Given the description of an element on the screen output the (x, y) to click on. 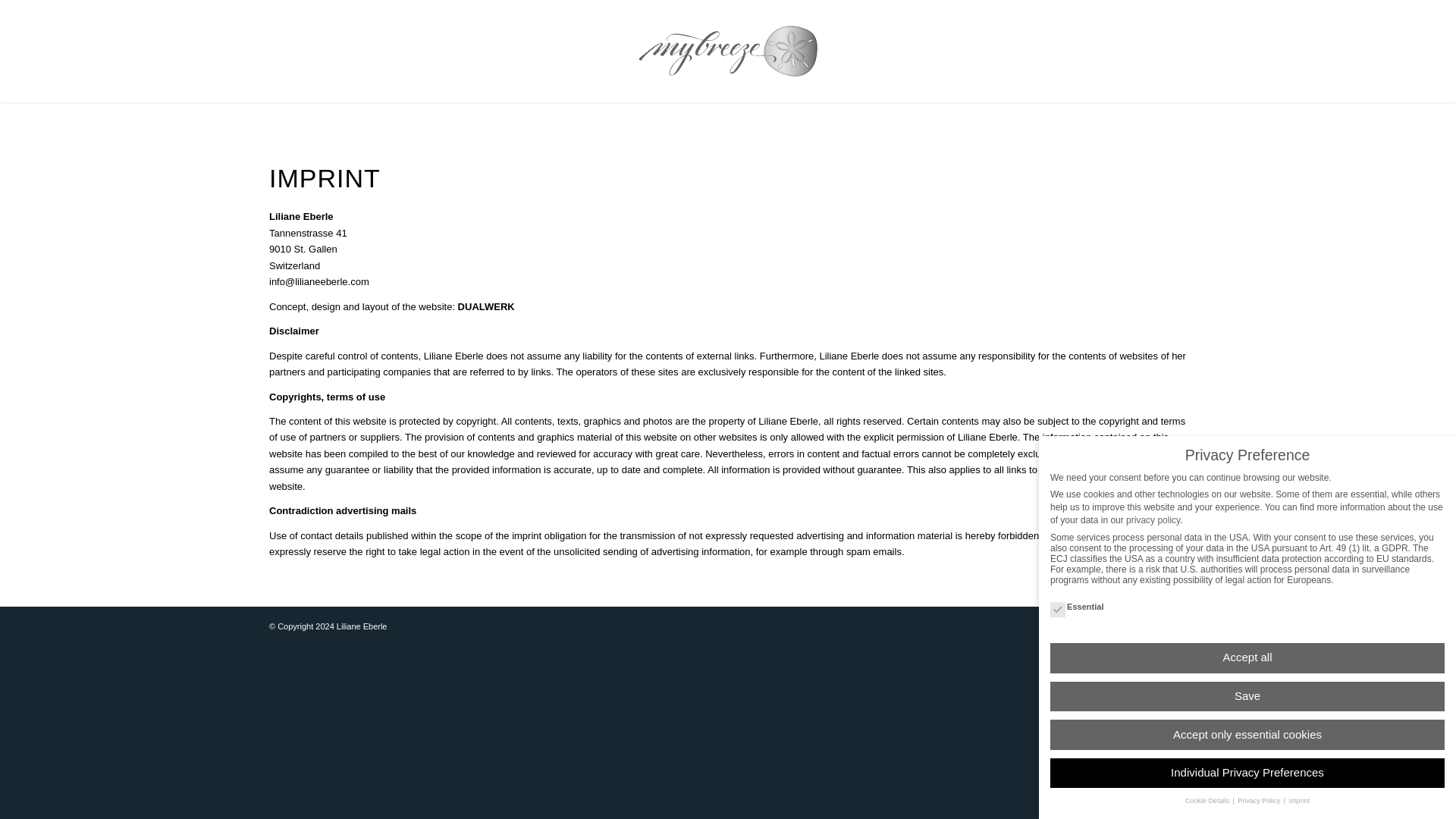
PRIVACY POLICY (1124, 626)
IMPRINT (1057, 626)
DE (1180, 626)
DUALWERK (486, 306)
privacy policy (1152, 583)
DE (1180, 626)
